Given the description of an element on the screen output the (x, y) to click on. 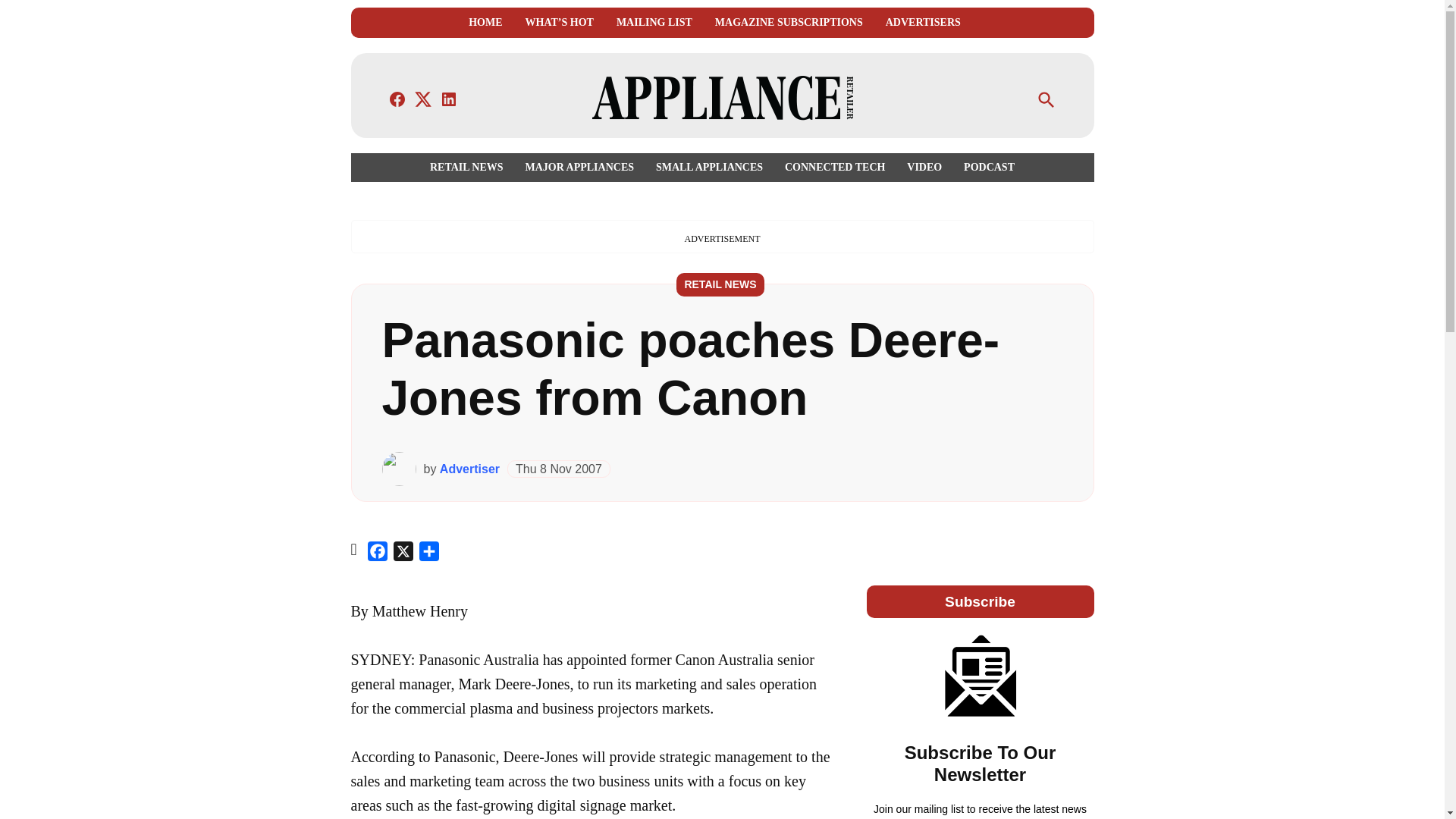
HOME (484, 22)
VIDEO (924, 167)
CONNECTED TECH (834, 167)
Advertiser (469, 468)
LINKEDIN (448, 99)
MAJOR APPLIANCES (579, 167)
TWITTER (422, 99)
X (403, 554)
SMALL APPLIANCES (708, 167)
MAGAZINE SUBSCRIPTIONS (788, 22)
